Given the description of an element on the screen output the (x, y) to click on. 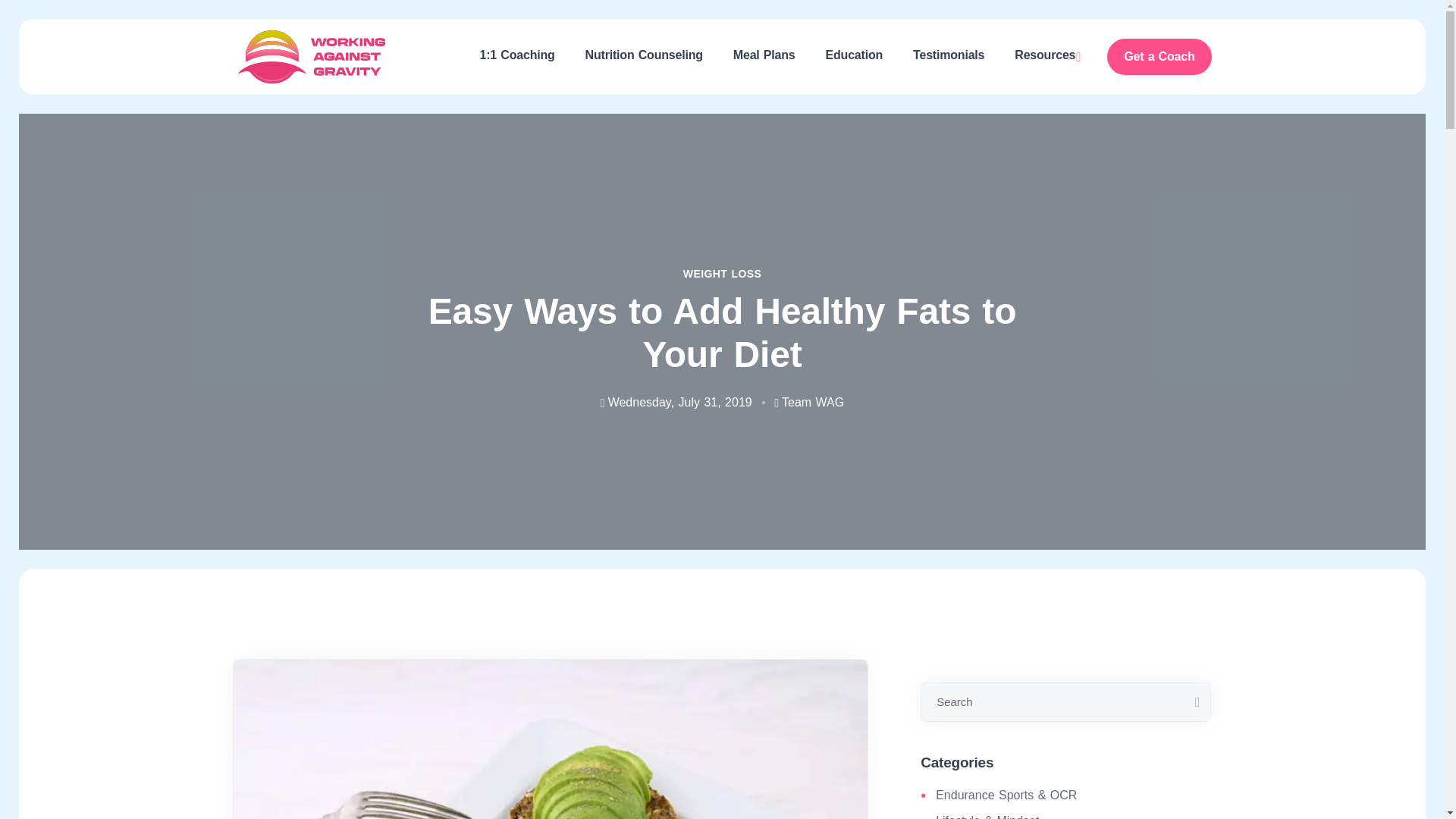
Testimonials (948, 54)
Education (854, 54)
Nutrition Counseling (643, 54)
1:1 Coaching (517, 54)
Resources (1045, 56)
Meal Plans (763, 54)
